Given the description of an element on the screen output the (x, y) to click on. 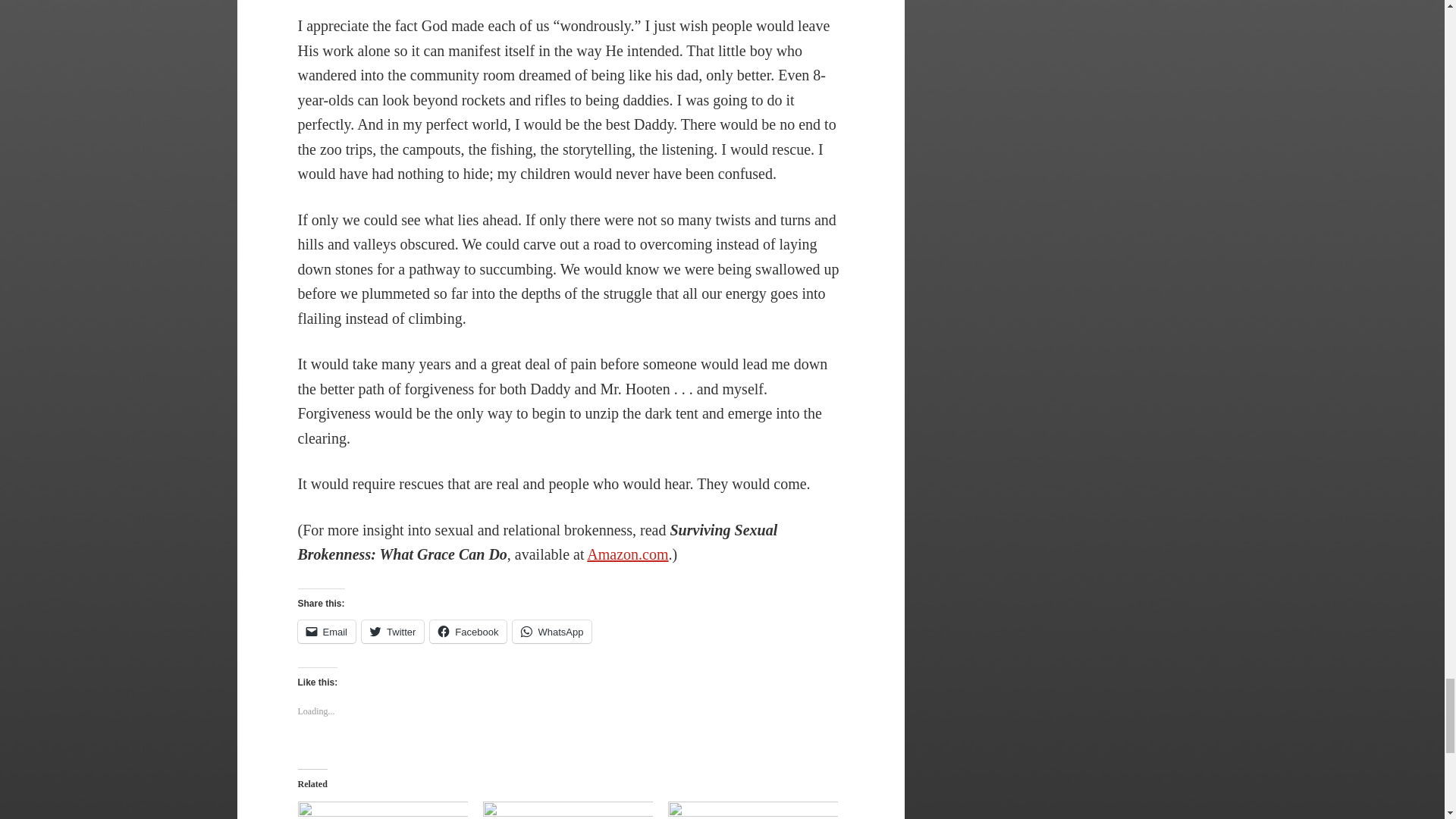
Facebook (467, 630)
Click to share on WhatsApp (551, 630)
Twitter (392, 630)
Amazon.com (627, 554)
Click to share on Twitter (392, 630)
WhatsApp (551, 630)
Click to share on Facebook (467, 630)
Click to email a link to a friend (326, 630)
Email (326, 630)
